Given the description of an element on the screen output the (x, y) to click on. 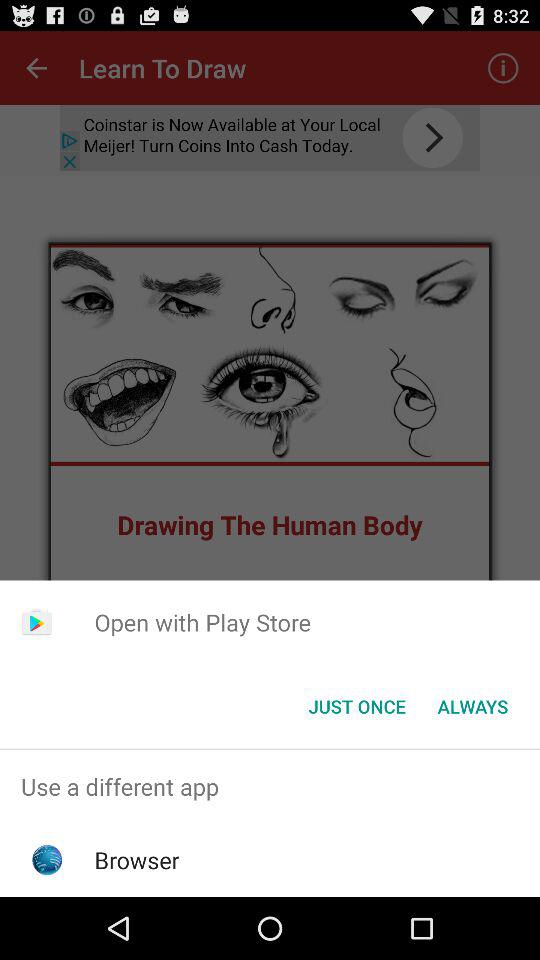
scroll to always button (472, 706)
